Given the description of an element on the screen output the (x, y) to click on. 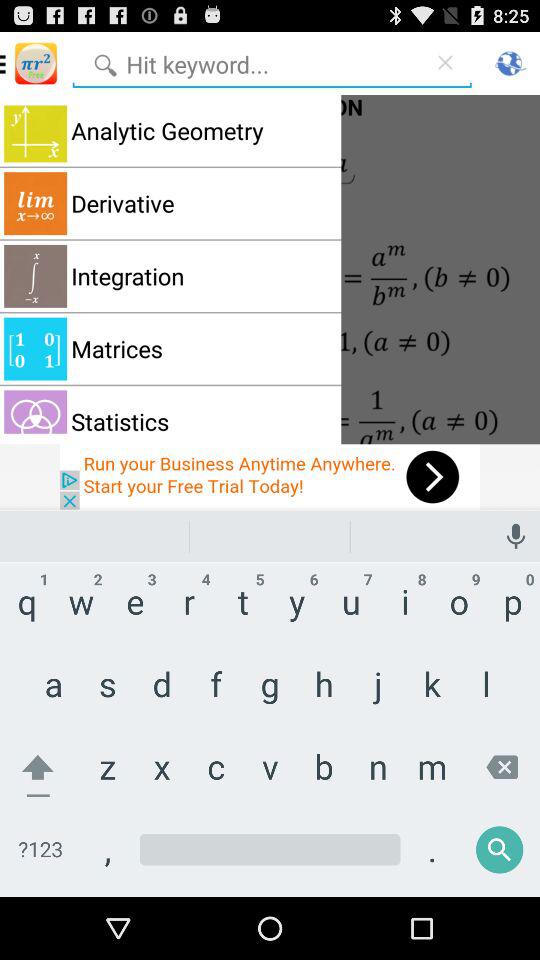
search bar (247, 61)
